Given the description of an element on the screen output the (x, y) to click on. 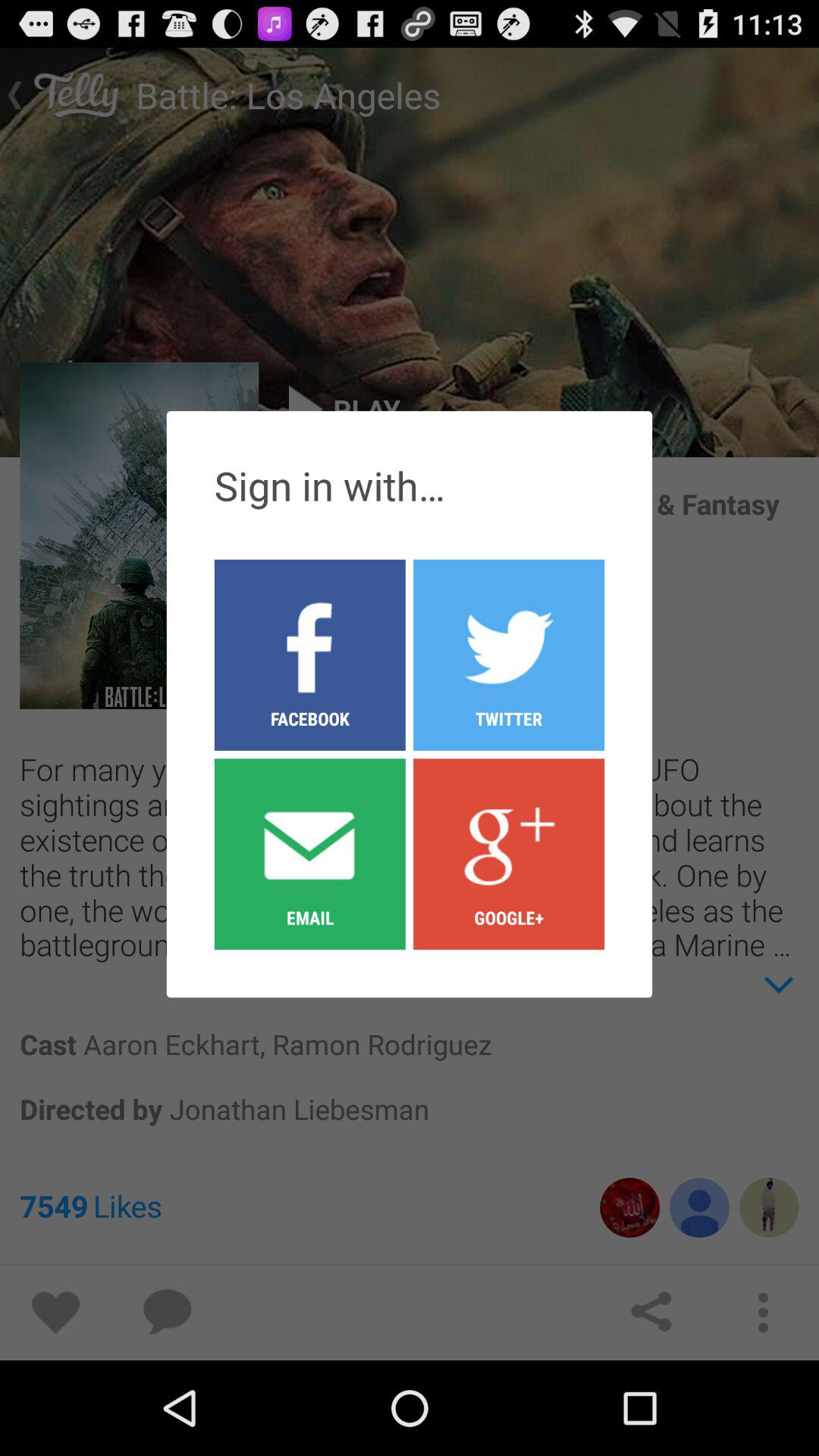
choose the email item (309, 853)
